Given the description of an element on the screen output the (x, y) to click on. 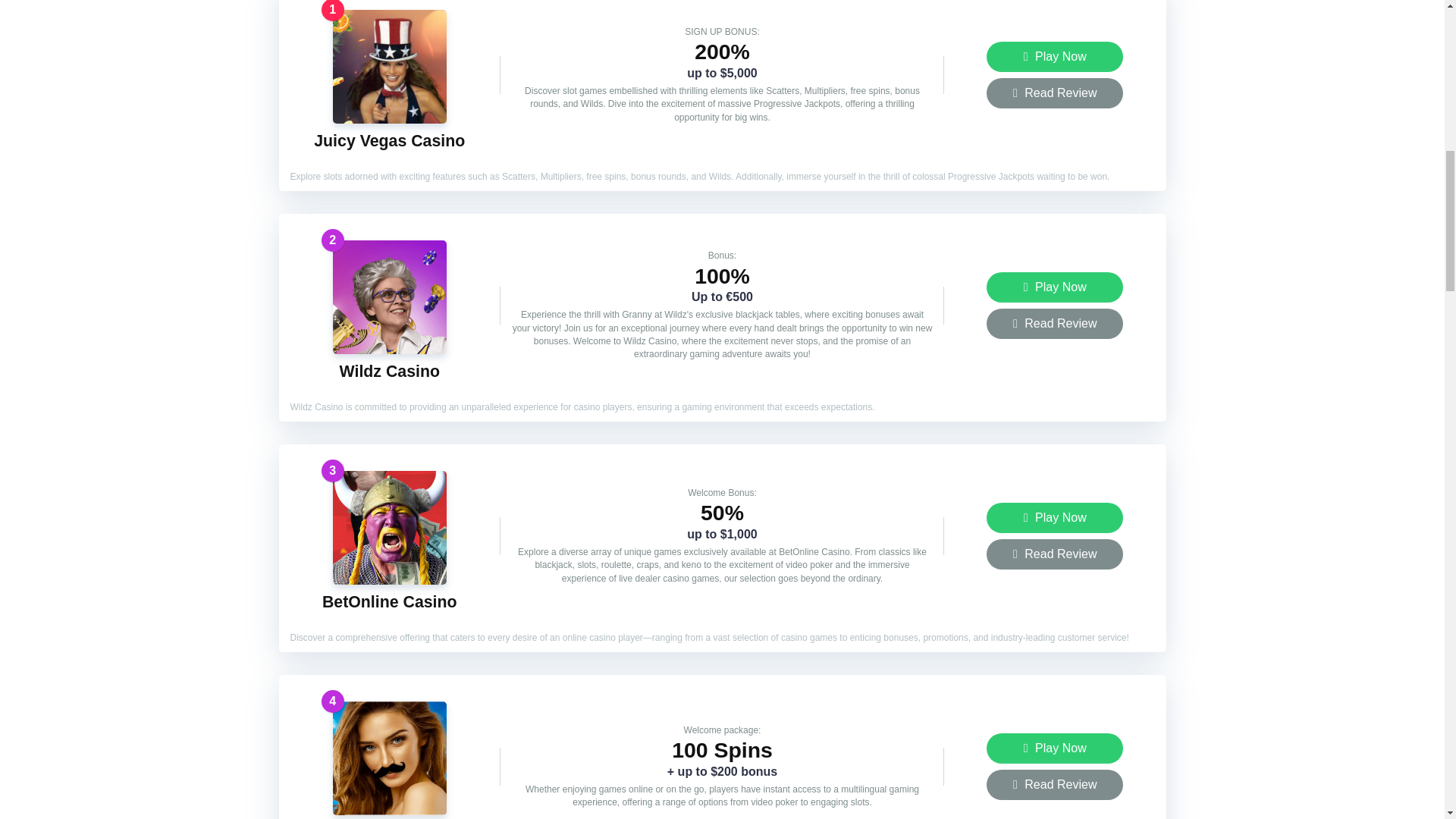
Play Now (1054, 748)
BetOnline Casino (389, 601)
Read Review (1054, 323)
Juicy Vegas Casino (389, 140)
Read Review (1054, 553)
Read Review (1054, 553)
Play Now (1054, 56)
Read Review (1054, 92)
Play Now (1054, 517)
Read Review (1054, 323)
MrPlay Casino (389, 810)
Play Now (1054, 286)
Play Now (1054, 286)
Play Now (1054, 56)
BetOnline Casino (389, 601)
